Given the description of an element on the screen output the (x, y) to click on. 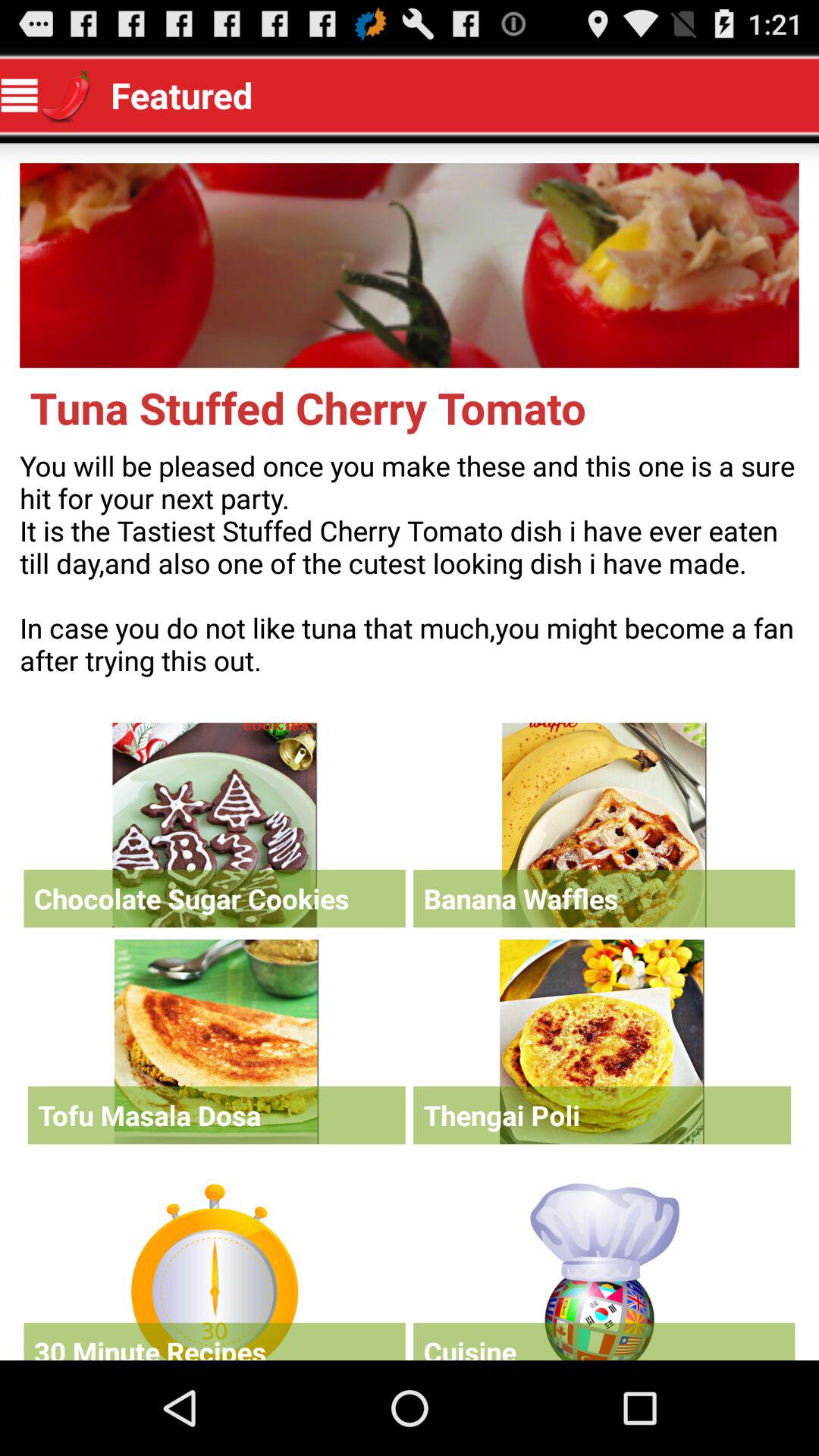
30 minute recipes (214, 1268)
